Given the description of an element on the screen output the (x, y) to click on. 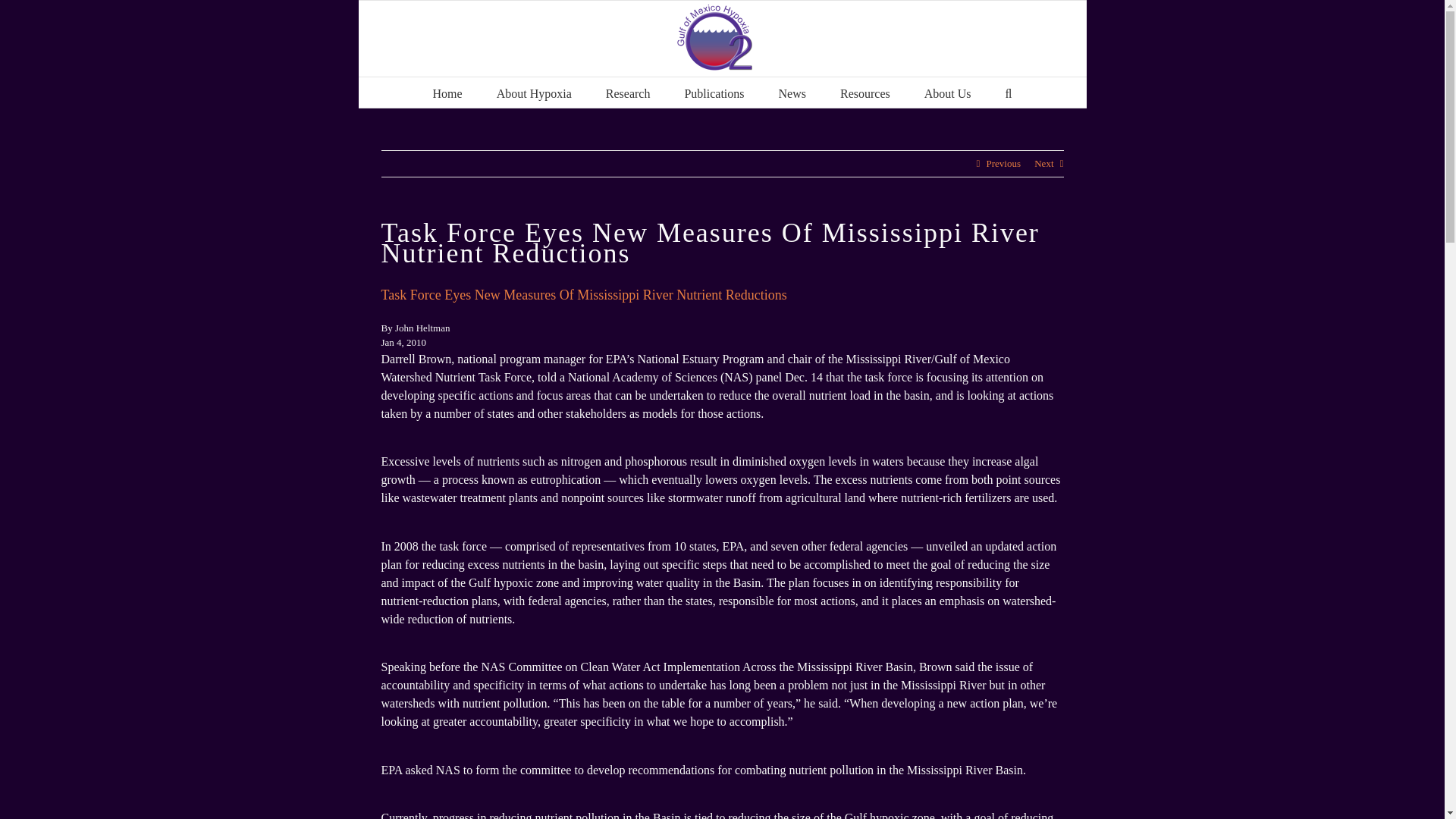
About Us (947, 91)
About Hypoxia (534, 91)
Home (447, 91)
News (792, 91)
Research (627, 91)
Publications (714, 91)
Resources (864, 91)
